Given the description of an element on the screen output the (x, y) to click on. 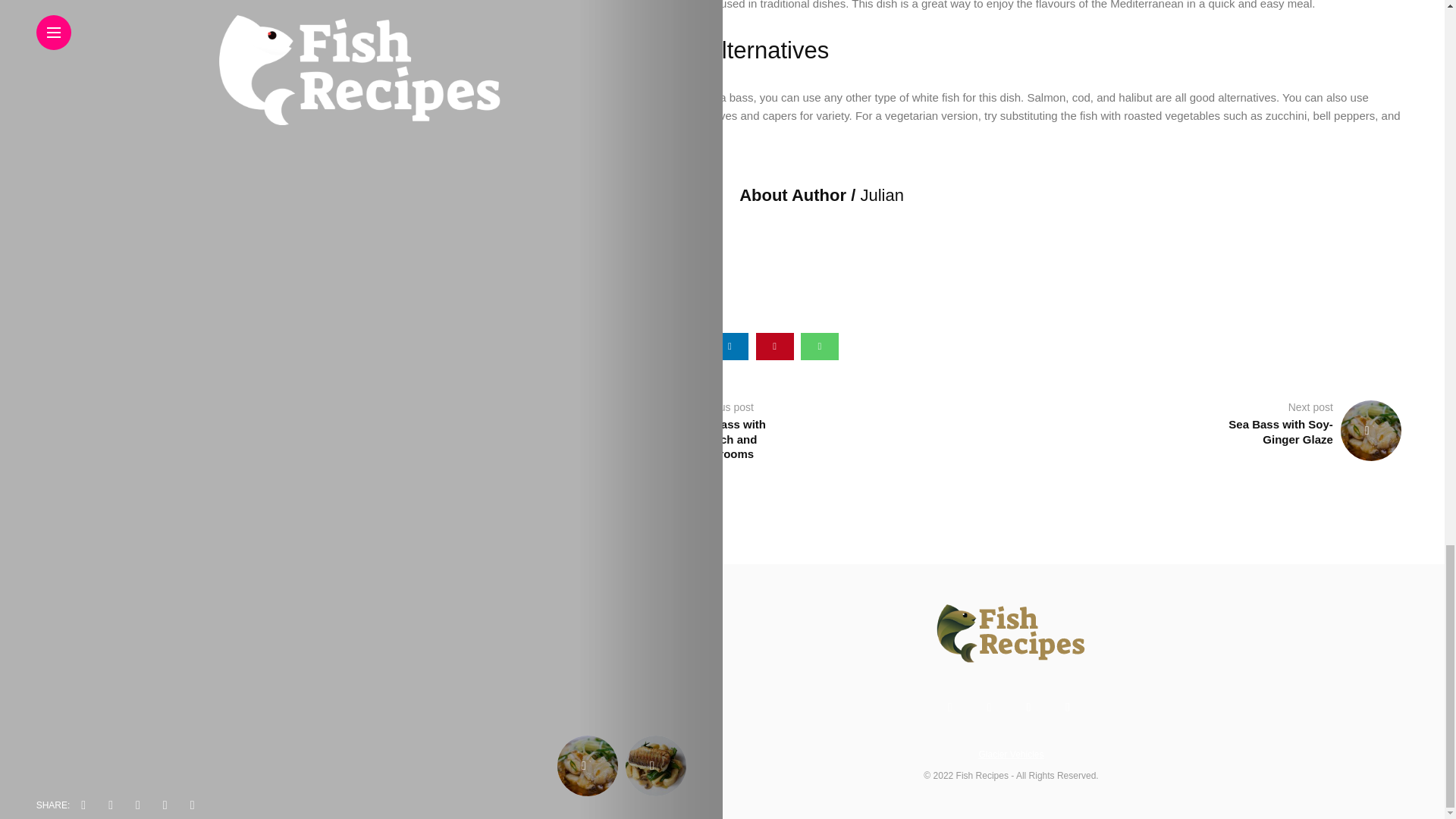
facebook (640, 346)
Posts by Julian (881, 194)
